Given the description of an element on the screen output the (x, y) to click on. 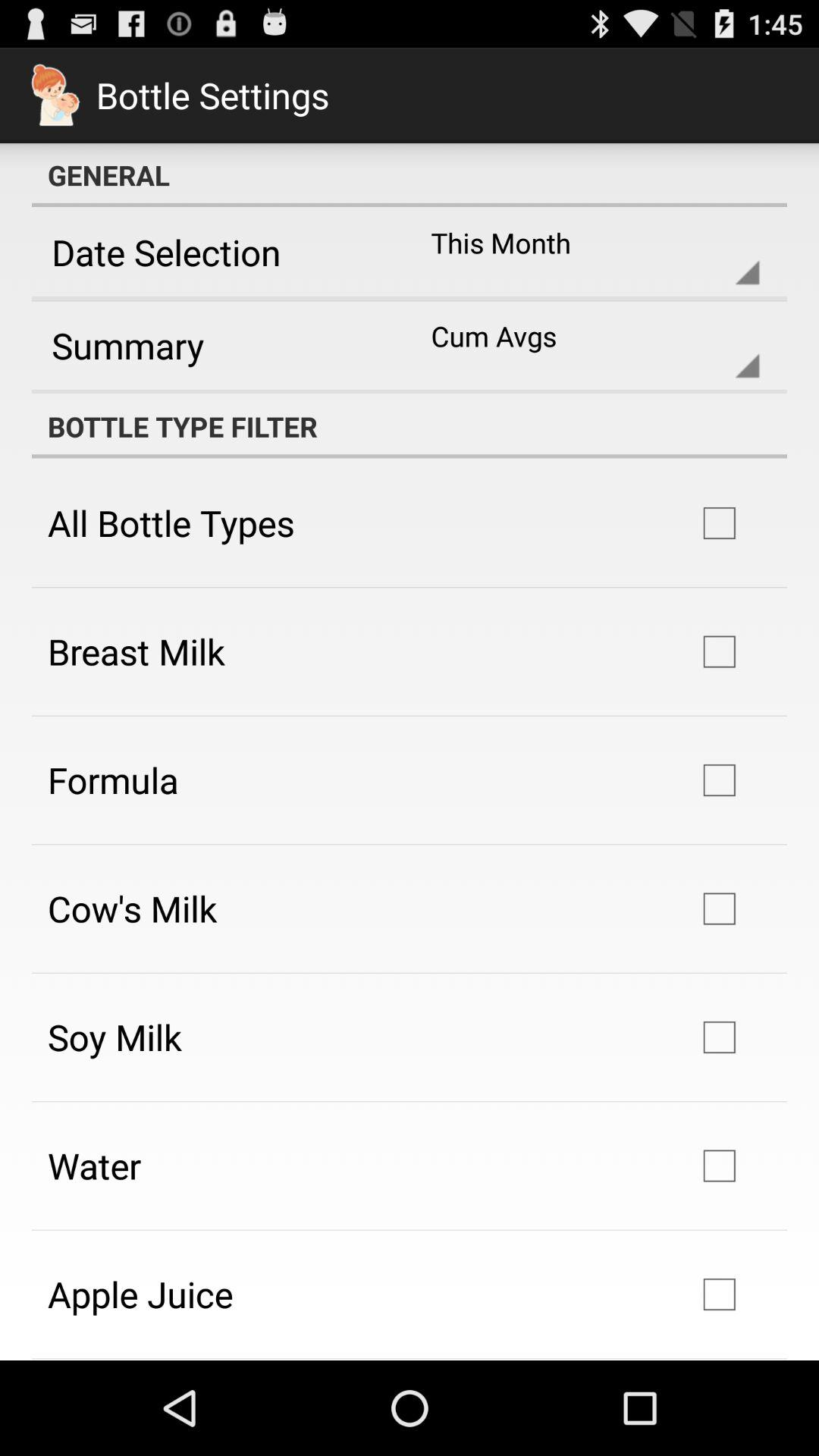
turn off soy milk (114, 1036)
